Given the description of an element on the screen output the (x, y) to click on. 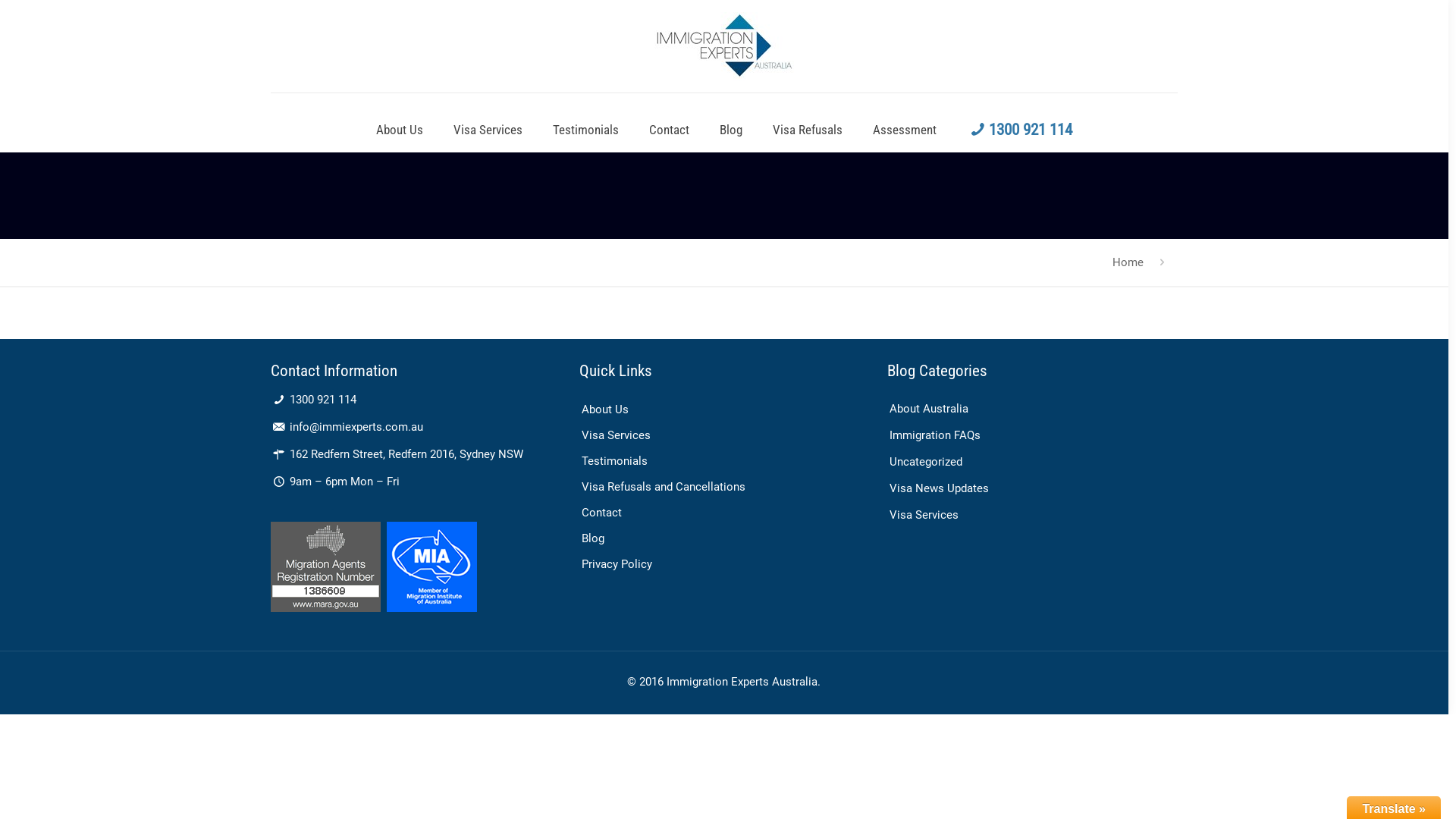
Visa Services Element type: text (487, 129)
Assessment Element type: text (904, 129)
1300 921 114 Element type: text (1019, 129)
Immigration FAQs Element type: text (1028, 435)
Visa Services Element type: text (1028, 515)
Visa News Updates Element type: text (1028, 488)
Contact Element type: text (720, 511)
Uncategorized Element type: text (1028, 461)
About Us Element type: text (399, 129)
Privacy Policy Element type: text (720, 563)
About Australia Element type: text (1028, 408)
About Us Element type: text (720, 408)
Immigration Experts Australia Element type: hover (724, 46)
Visa Services Element type: text (720, 434)
Testimonials Element type: text (585, 129)
Visa Refusals Element type: text (807, 129)
Home Element type: text (1127, 262)
Blog Element type: text (720, 537)
Testimonials Element type: text (720, 460)
Contact Element type: text (668, 129)
Blog Element type: text (730, 129)
Visa Refusals and Cancellations Element type: text (720, 485)
